Given the description of an element on the screen output the (x, y) to click on. 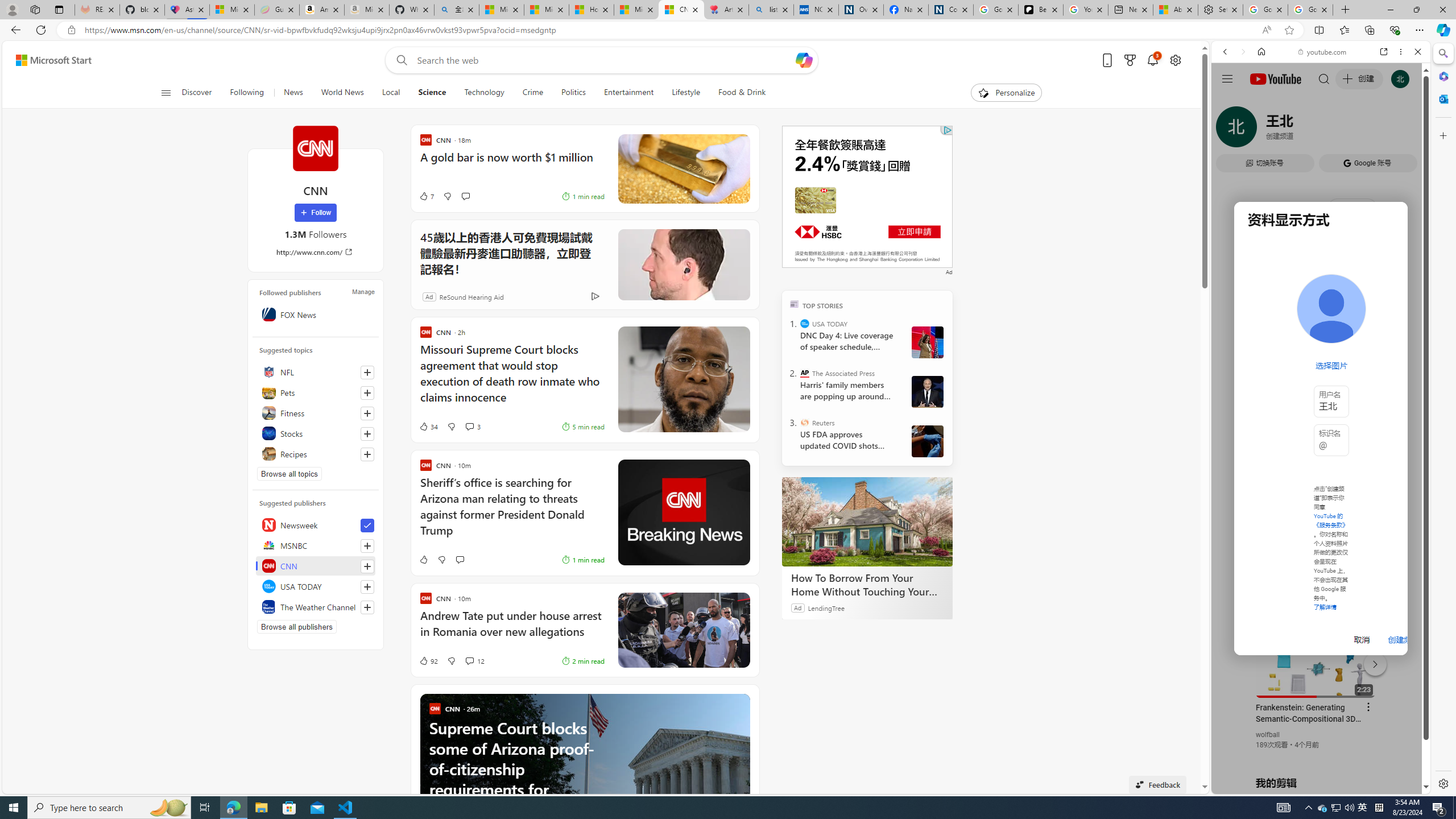
7 Like (425, 196)
Trailer #2 [HD] (1320, 337)
How To Borrow From Your Home Without Touching Your Mortgage (866, 584)
Actions for this site (1371, 661)
Skip to footer (46, 59)
Food & Drink (741, 92)
